Given the description of an element on the screen output the (x, y) to click on. 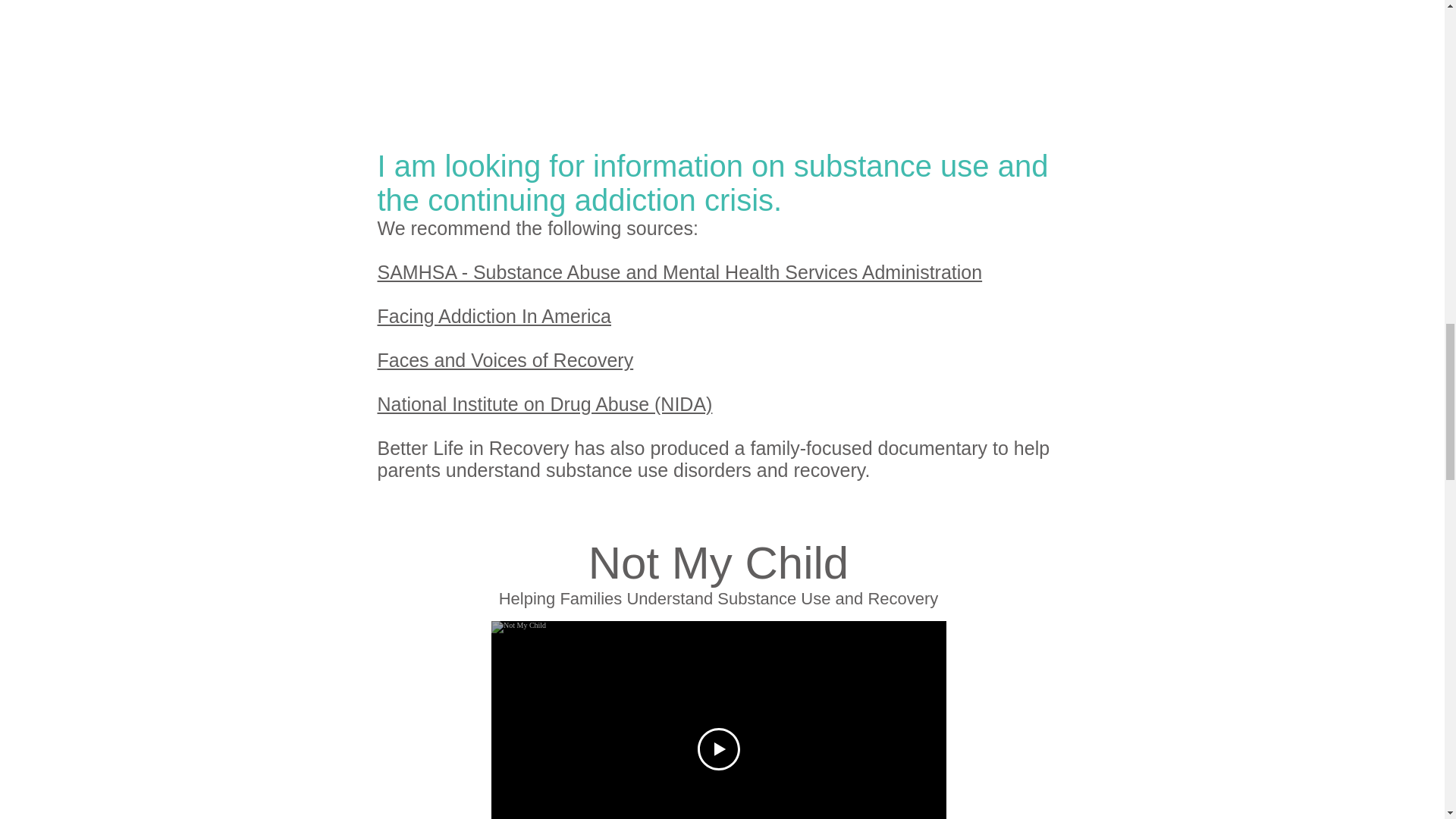
Faces and Voices of Recovery (505, 360)
Facing Addiction In America (494, 315)
